Given the description of an element on the screen output the (x, y) to click on. 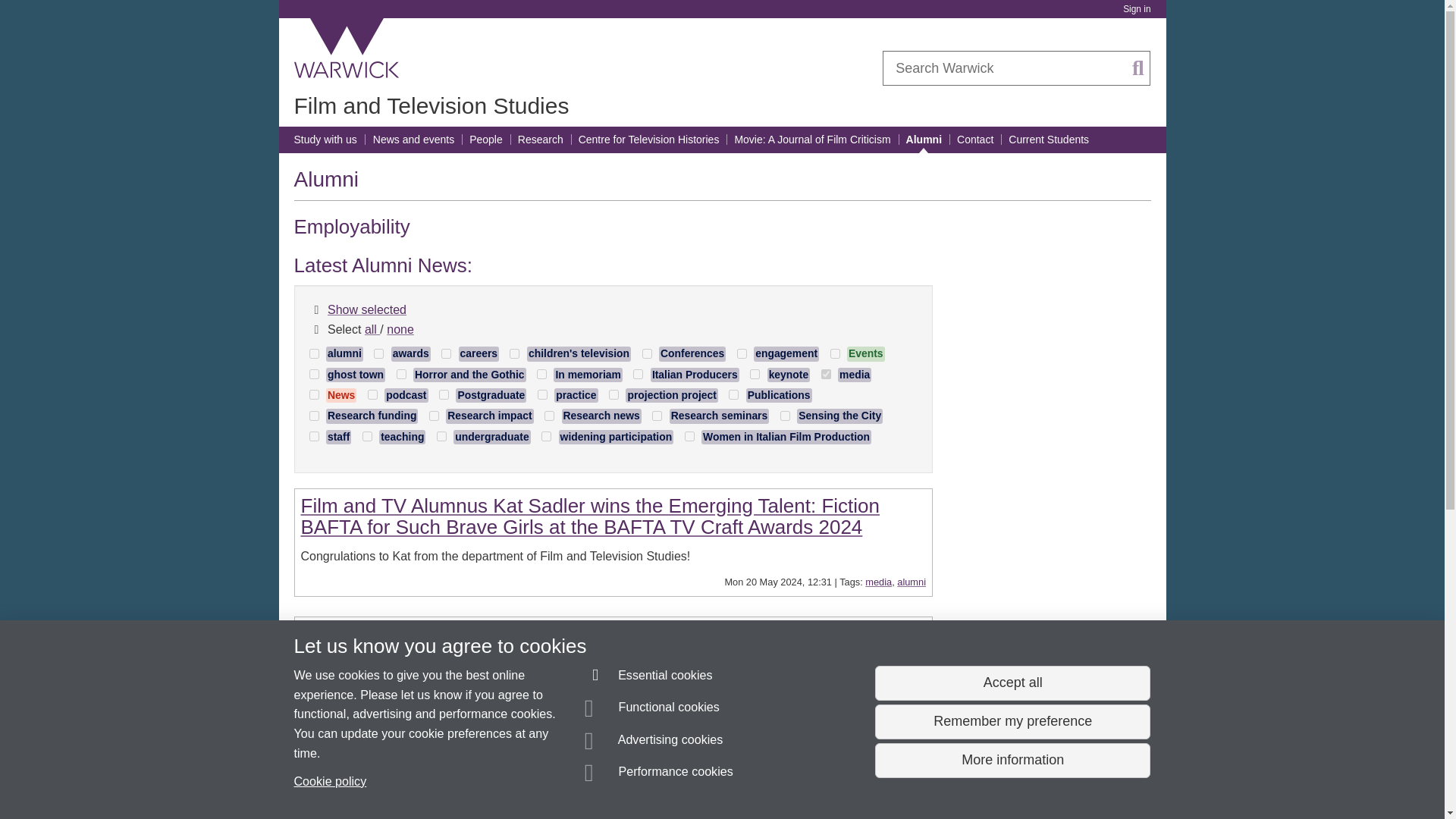
In memoriam (542, 374)
awards (379, 353)
Study with us (325, 139)
Events (857, 356)
ghost town (313, 374)
News and events (413, 139)
practice (542, 394)
projection project (613, 394)
Italian Producers (638, 374)
Conferences (647, 353)
alumni (335, 356)
People (485, 139)
Events (834, 353)
awards (401, 356)
Horror and the Gothic (460, 377)
